Given the description of an element on the screen output the (x, y) to click on. 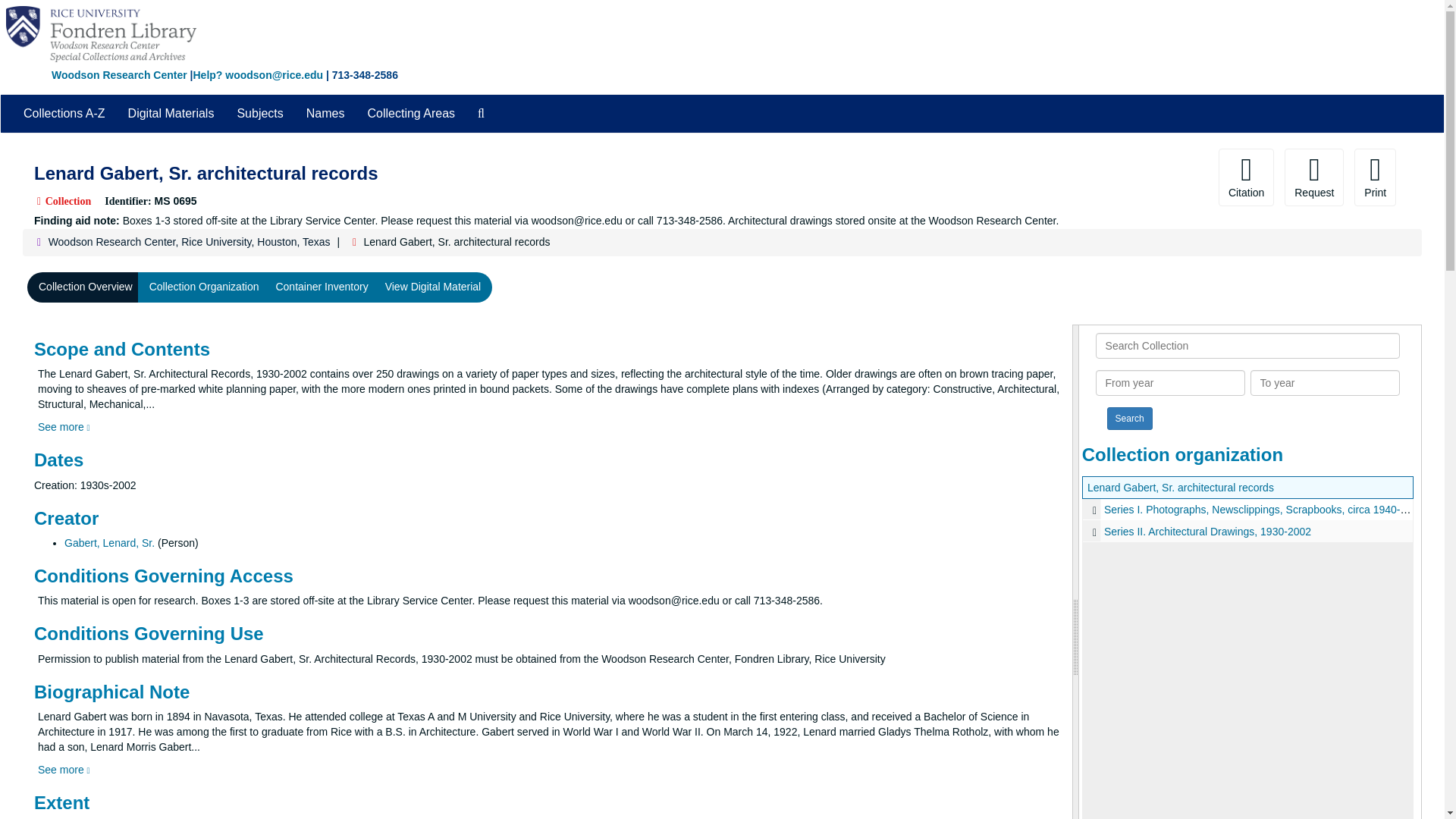
Series II. Architectural Drawings (1247, 531)
Series I. Photographs, Newsclippings, Scrapbooks (1247, 508)
Page Actions (1130, 177)
Collection Organization (204, 286)
Collection Overview (85, 286)
See more (63, 426)
Digital Materials (170, 113)
Search (1129, 418)
Collections A-Z (63, 113)
Gabert, Lenard, Sr. (109, 542)
Names (325, 113)
Woodson Research Center, Rice University, Houston, Texas (189, 241)
Woodson Research Center (118, 74)
Container Inventory (320, 286)
Subjects (259, 113)
